Given the description of an element on the screen output the (x, y) to click on. 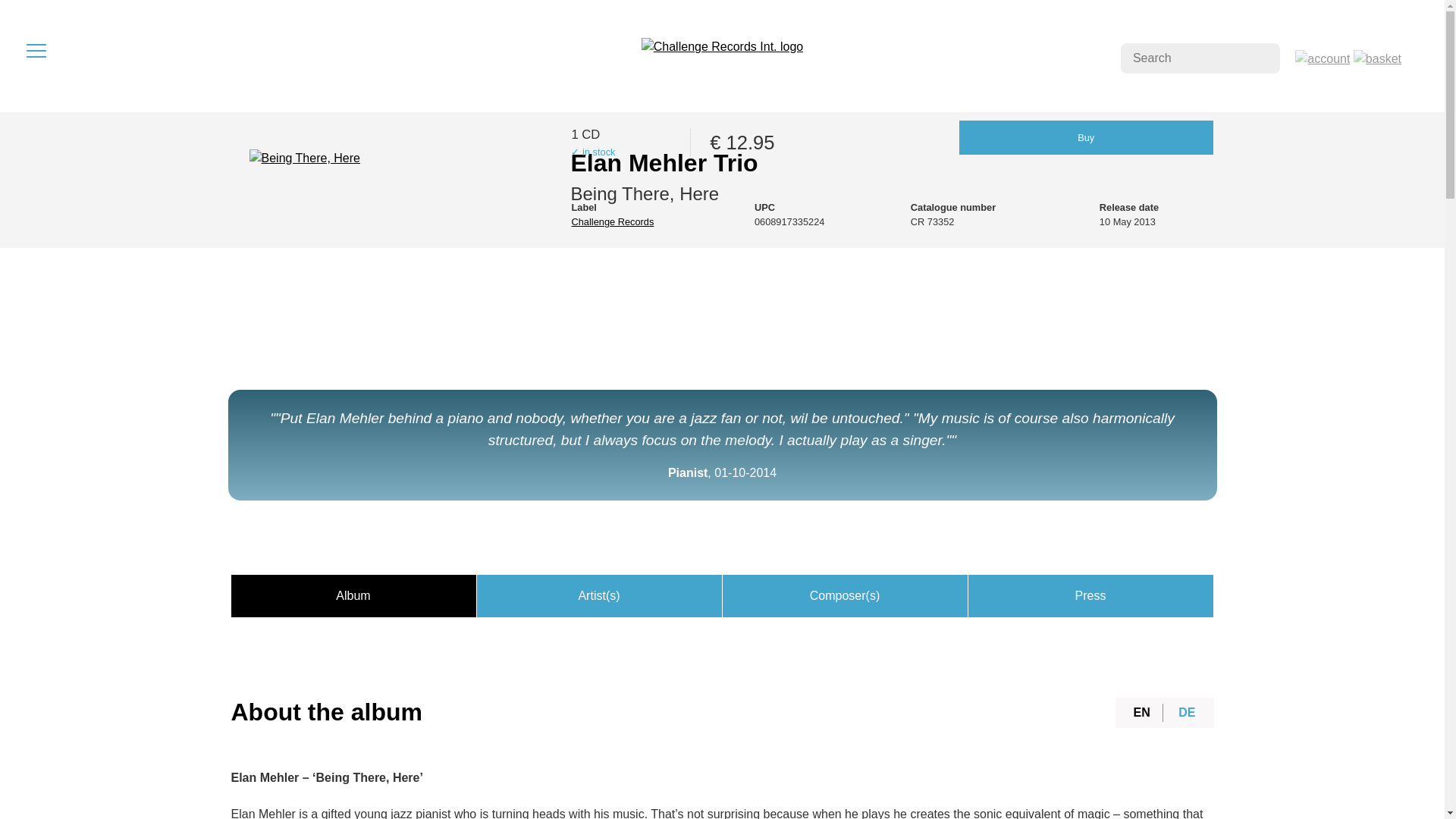
open the menu (36, 49)
basket (1377, 57)
Challenge Records (611, 221)
Buy (1085, 137)
account (1322, 57)
